Given the description of an element on the screen output the (x, y) to click on. 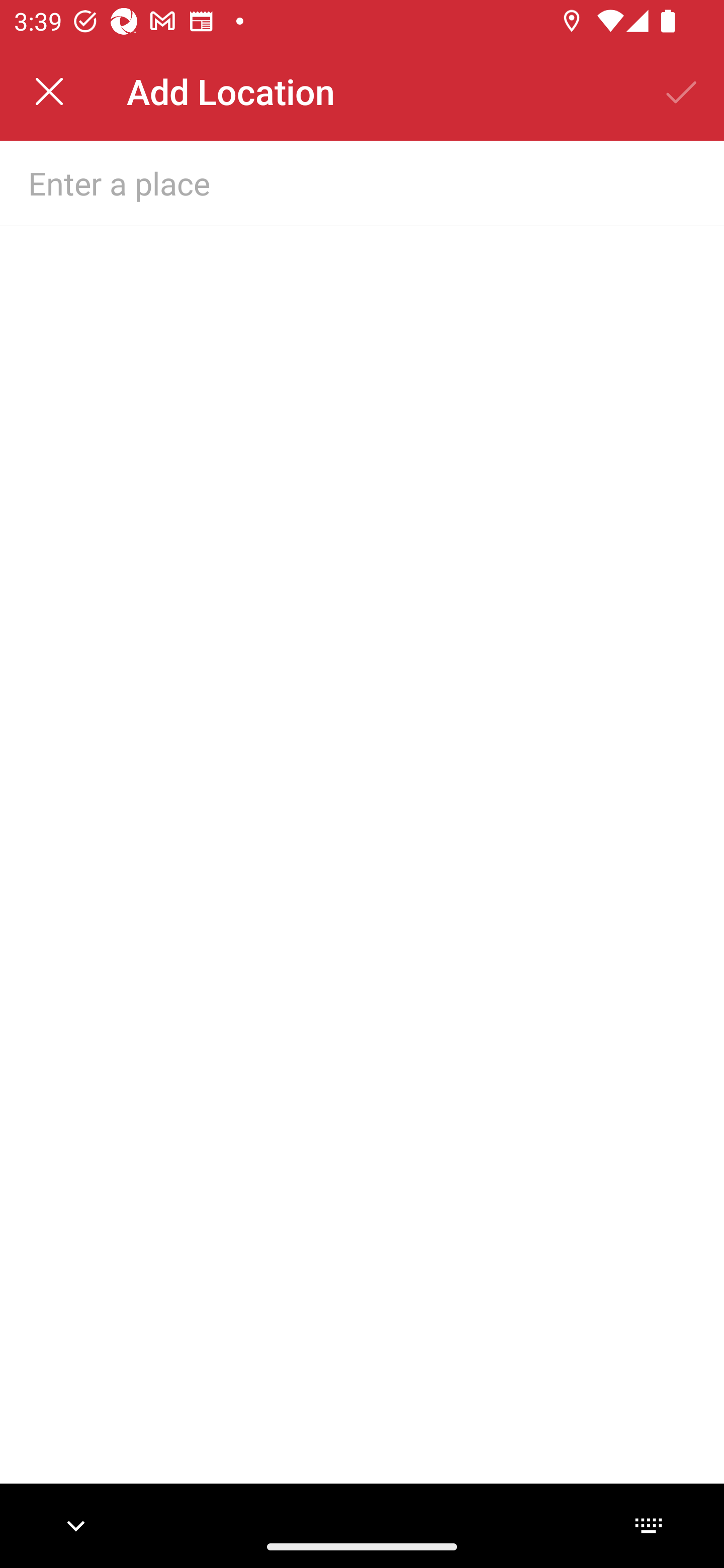
Close (49, 91)
Done (681, 91)
Enter a place (330, 182)
